Given the description of an element on the screen output the (x, y) to click on. 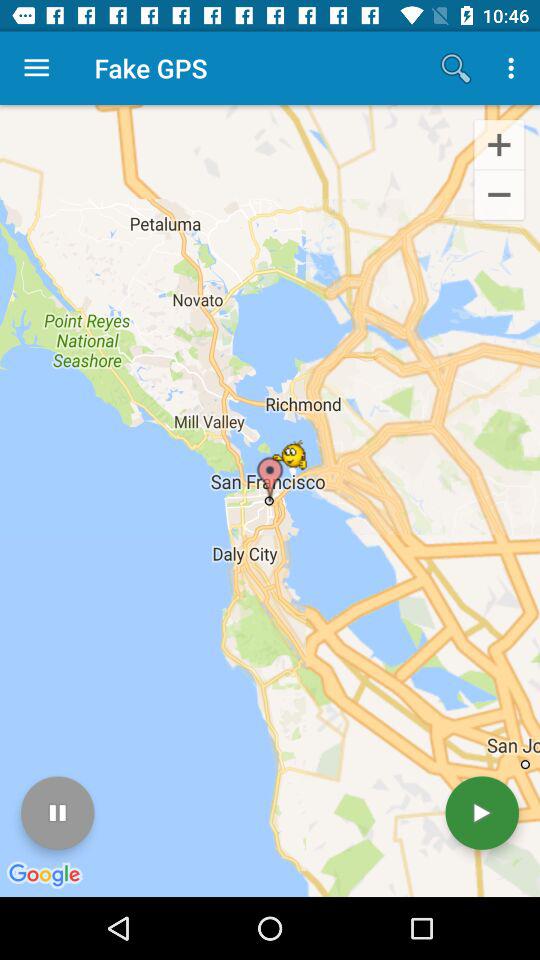
tap app next to the fake gps icon (455, 67)
